Given the description of an element on the screen output the (x, y) to click on. 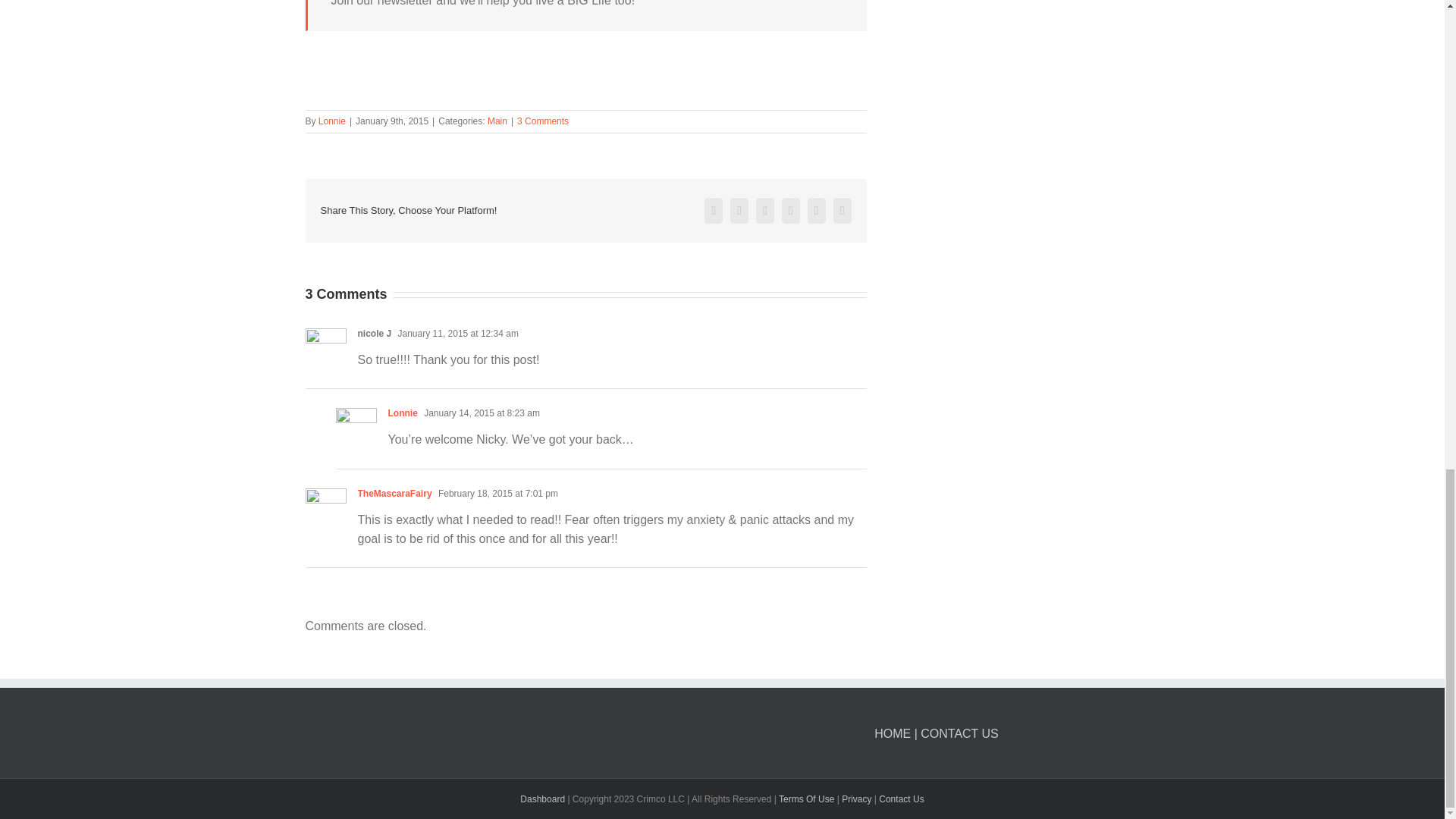
3 Comments (542, 121)
HOME (893, 733)
Posts by Lonnie (332, 121)
TheMascaraFairy (395, 493)
Main (496, 121)
Lonnie (402, 412)
Lonnie (332, 121)
